Given the description of an element on the screen output the (x, y) to click on. 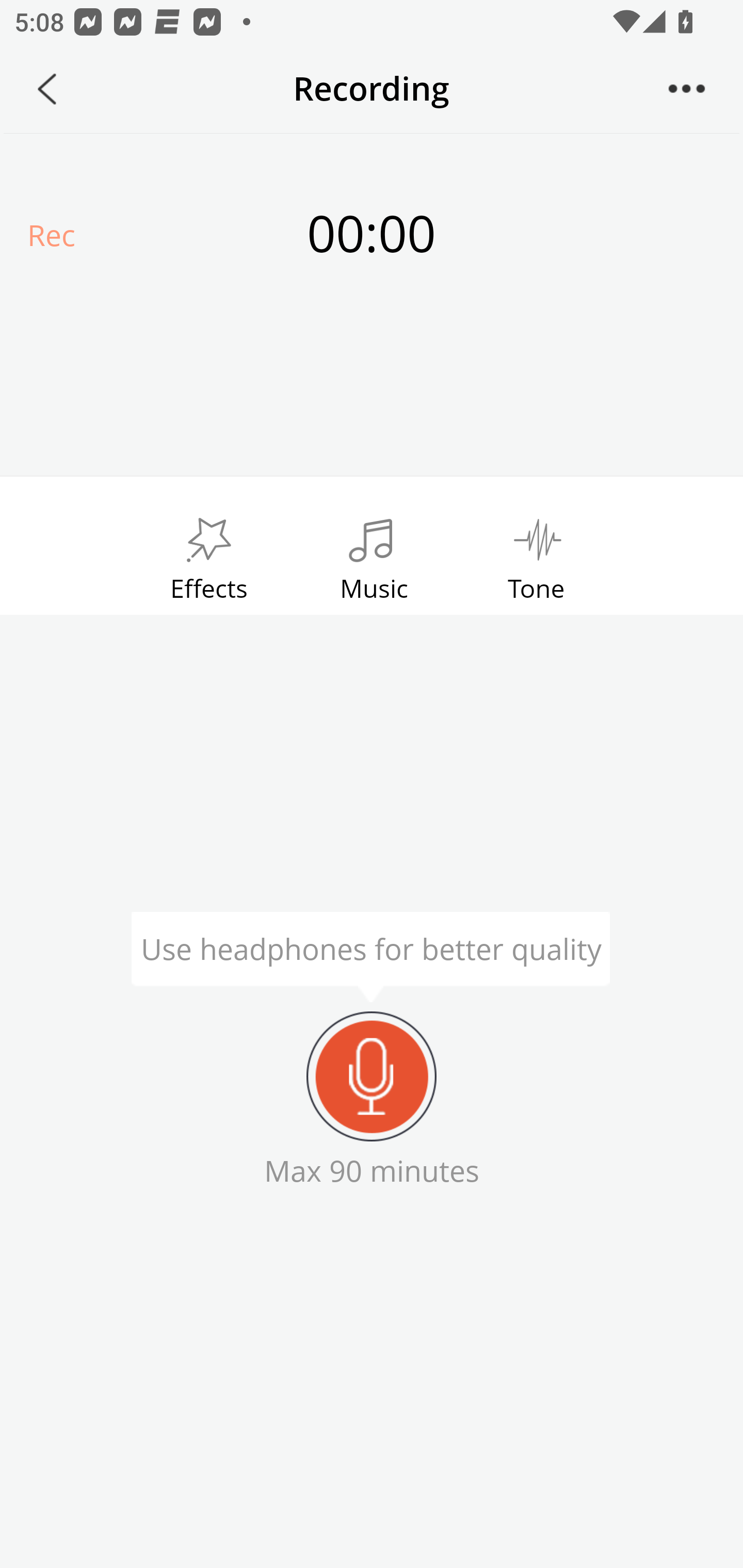
Back (46, 88)
Effects (208, 554)
Music (374, 554)
Tone (536, 554)
Recording (371, 1076)
